Given the description of an element on the screen output the (x, y) to click on. 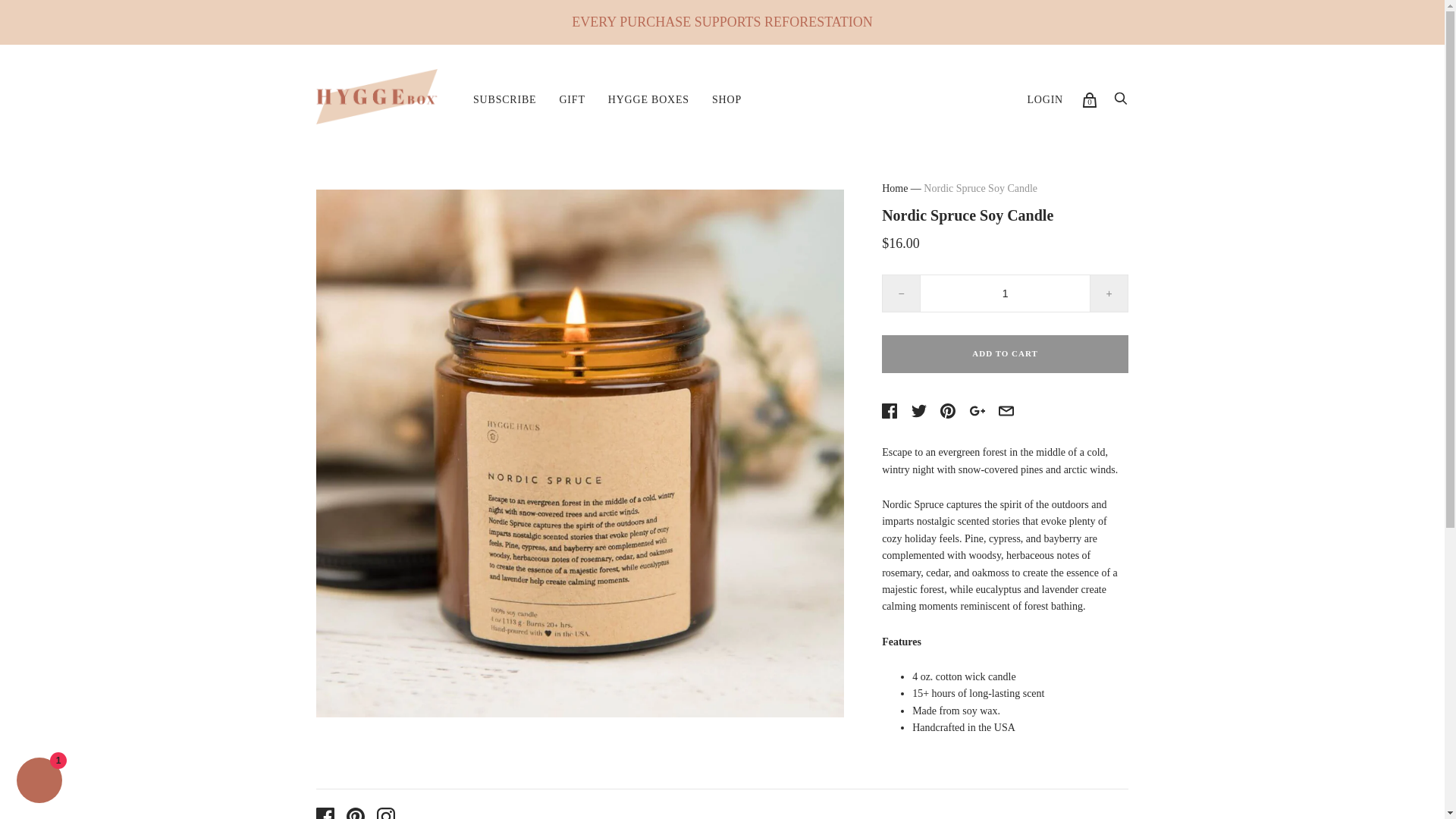
Pinterest (355, 813)
Shopify online store chat (38, 781)
Smile.io Rewards Program Launcher (1359, 780)
Home (894, 188)
0 (1089, 99)
SUBSCRIBE (504, 99)
1 (1005, 293)
GIFT (571, 99)
HYGGE BOXES (648, 99)
SHOP (726, 99)
ADD TO CART (1005, 353)
Home (894, 188)
Instagram (385, 813)
LOGIN (1044, 99)
Facebook (324, 813)
